Given the description of an element on the screen output the (x, y) to click on. 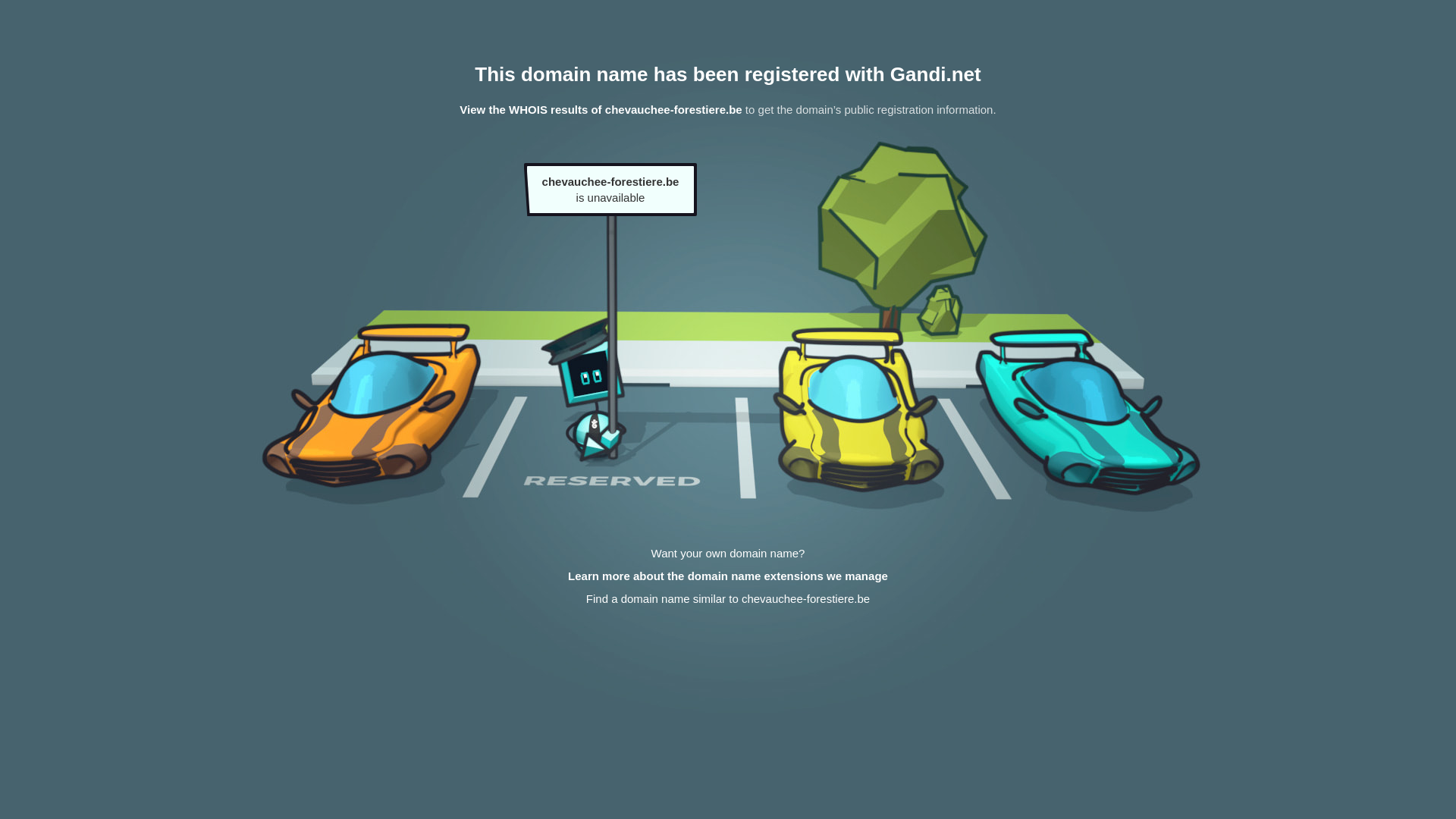
Find a domain name similar to chevauchee-forestiere.be Element type: text (727, 598)
Learn more about the domain name extensions we manage Element type: text (727, 575)
View the WHOIS results of chevauchee-forestiere.be Element type: text (600, 109)
